Given the description of an element on the screen output the (x, y) to click on. 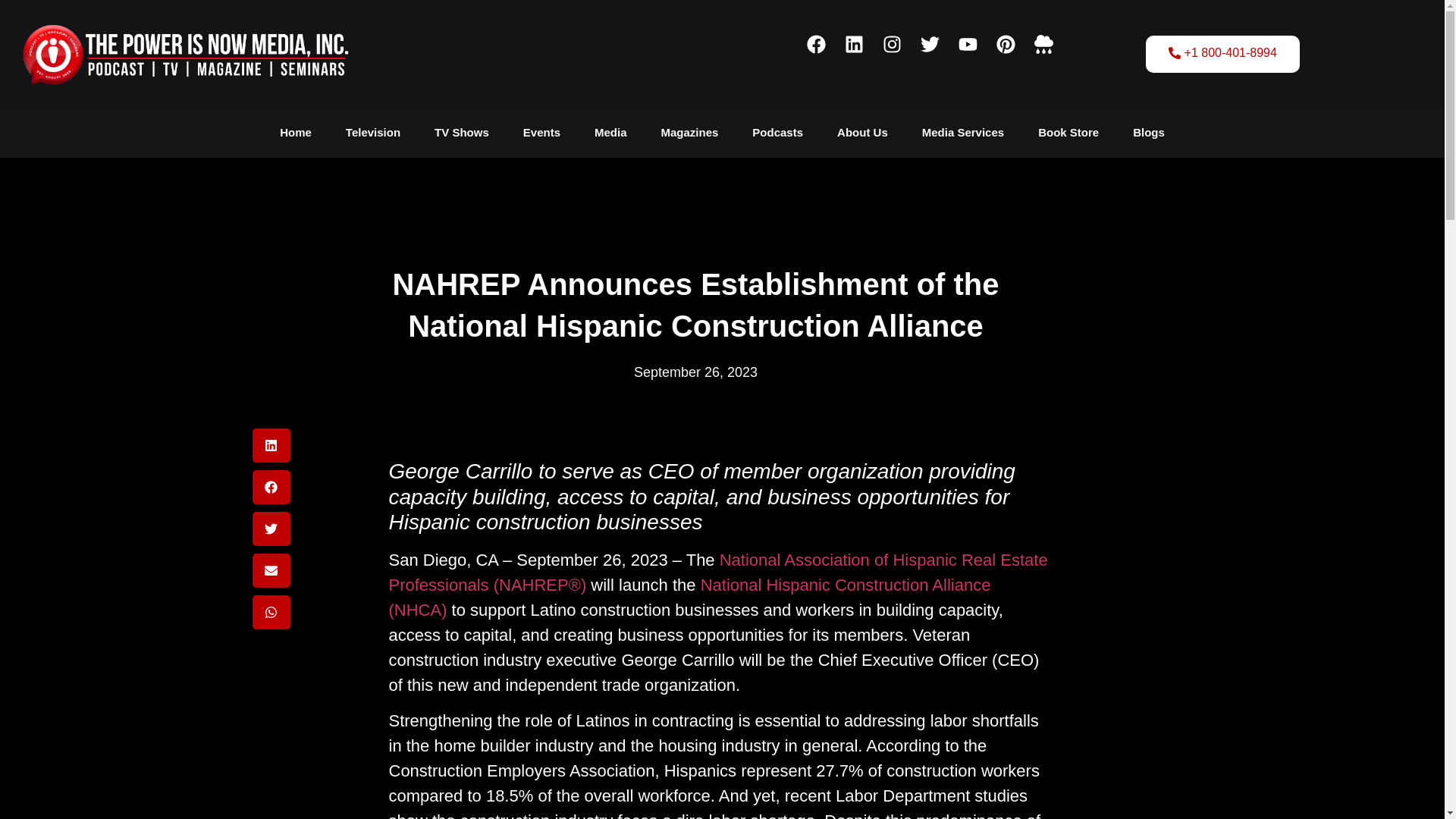
TV Shows (461, 132)
Home (295, 132)
Television (372, 132)
